Given the description of an element on the screen output the (x, y) to click on. 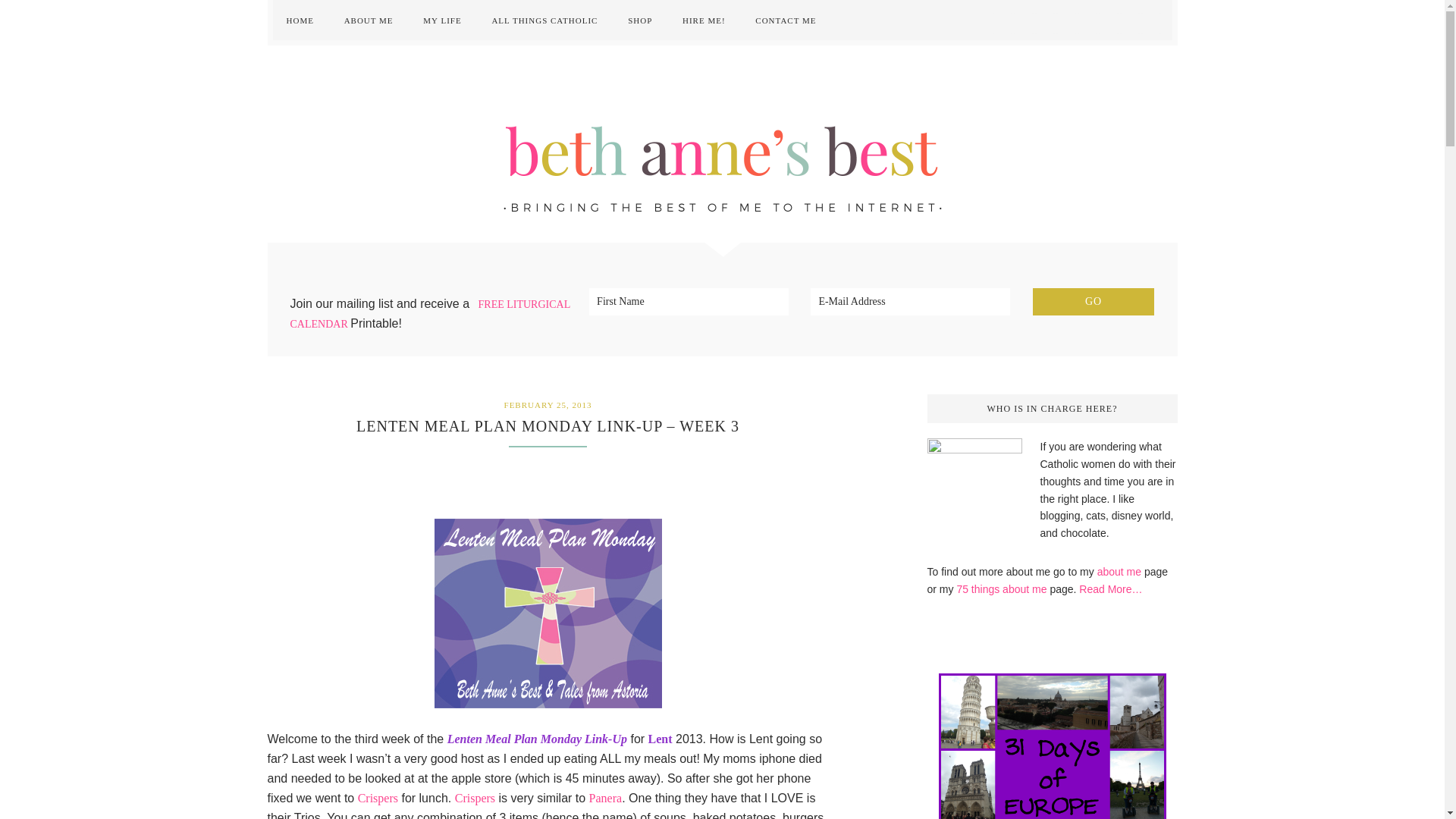
Go (1093, 301)
Panera (606, 797)
CONTACT ME (785, 20)
meal plan linkup (547, 613)
BETH ANNE'S BEST (722, 143)
Crispers (377, 797)
Crispers (474, 797)
HOME (300, 20)
ABOUT ME (368, 20)
Go (1093, 301)
MY LIFE (441, 20)
HIRE ME! (703, 20)
SHOP (639, 20)
ALL THINGS CATHOLIC (544, 20)
